Given the description of an element on the screen output the (x, y) to click on. 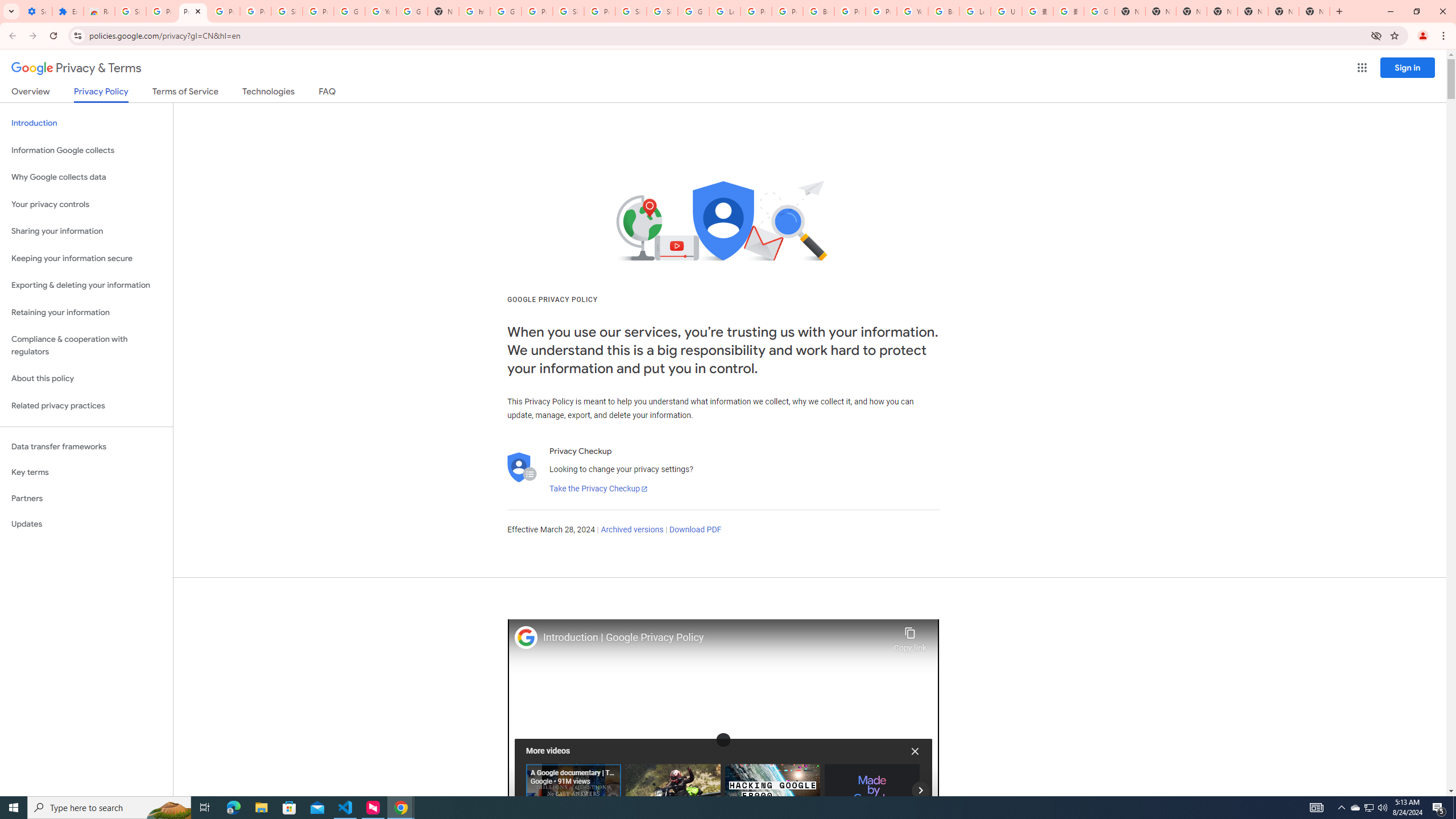
Google Images (1098, 11)
Operation Aurora | HACKING GOOGLE | Documentary EP000 (772, 789)
Information Google collects (86, 150)
Exporting & deleting your information (86, 284)
Photo image of Google (526, 636)
Your privacy controls (86, 204)
